Given the description of an element on the screen output the (x, y) to click on. 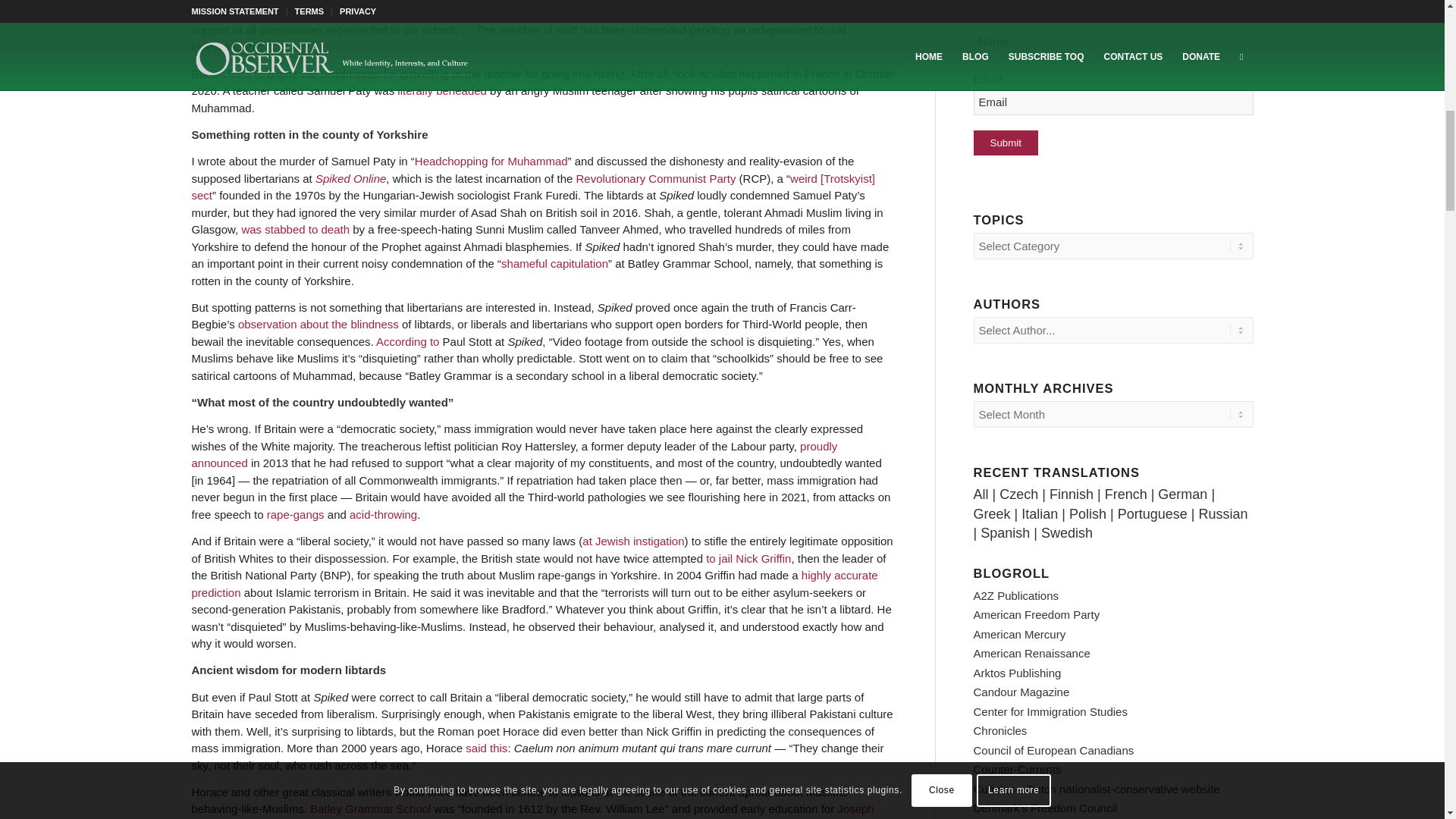
Revolutionary Communist Party (655, 178)
Submit (1006, 142)
Headchopping for Muhammad (490, 160)
acid-throwing (382, 513)
highly accurate prediction (533, 583)
Spiked Online (350, 178)
said this (485, 748)
like this (260, 1)
proudly announced (513, 454)
literally beheaded (441, 90)
observation about the blindness (318, 323)
was stabbed to death (295, 228)
According to (407, 341)
to jail Nick Griffin (748, 558)
Joseph Priestley (531, 810)
